Given the description of an element on the screen output the (x, y) to click on. 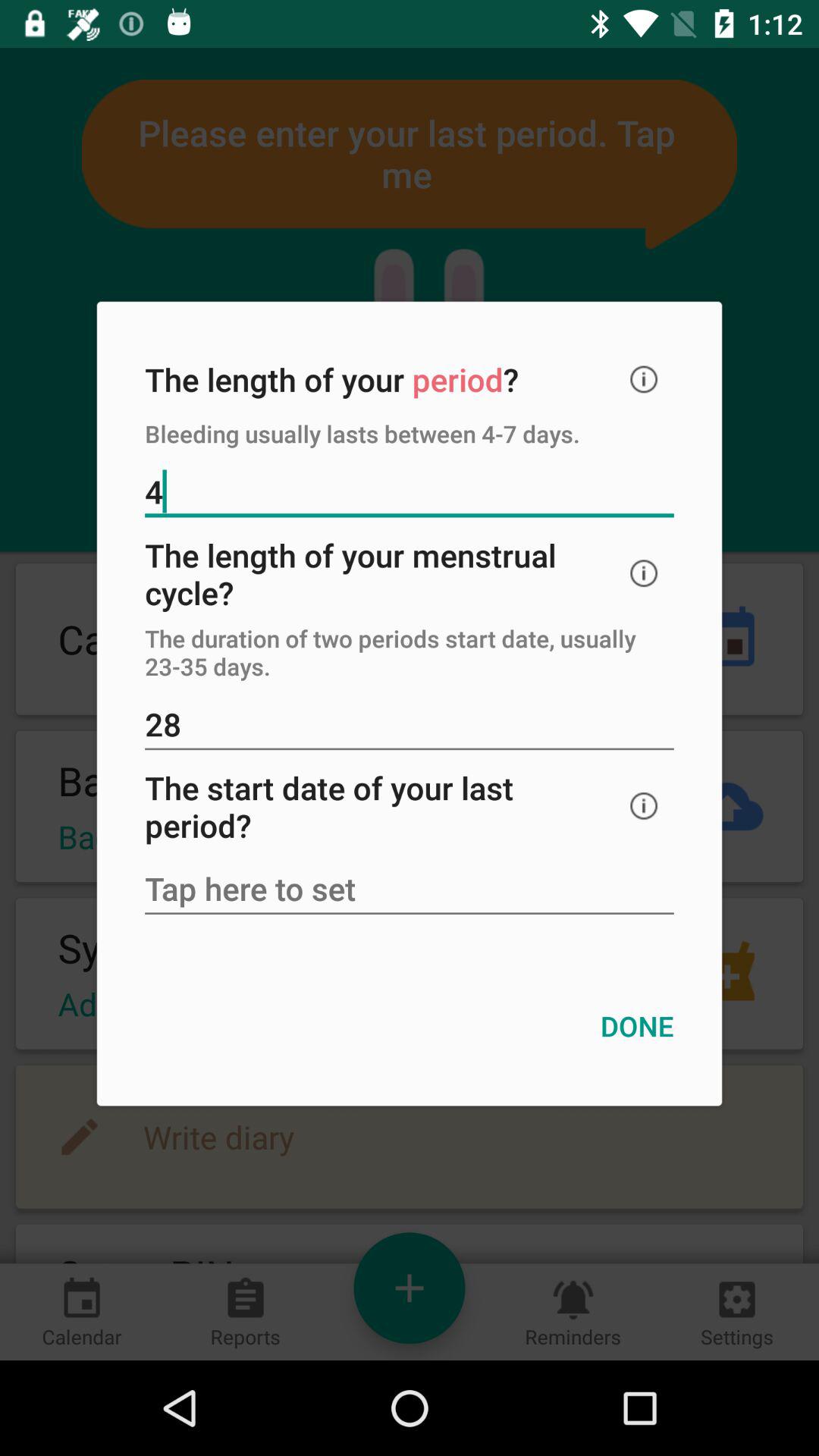
show more information (643, 573)
